Given the description of an element on the screen output the (x, y) to click on. 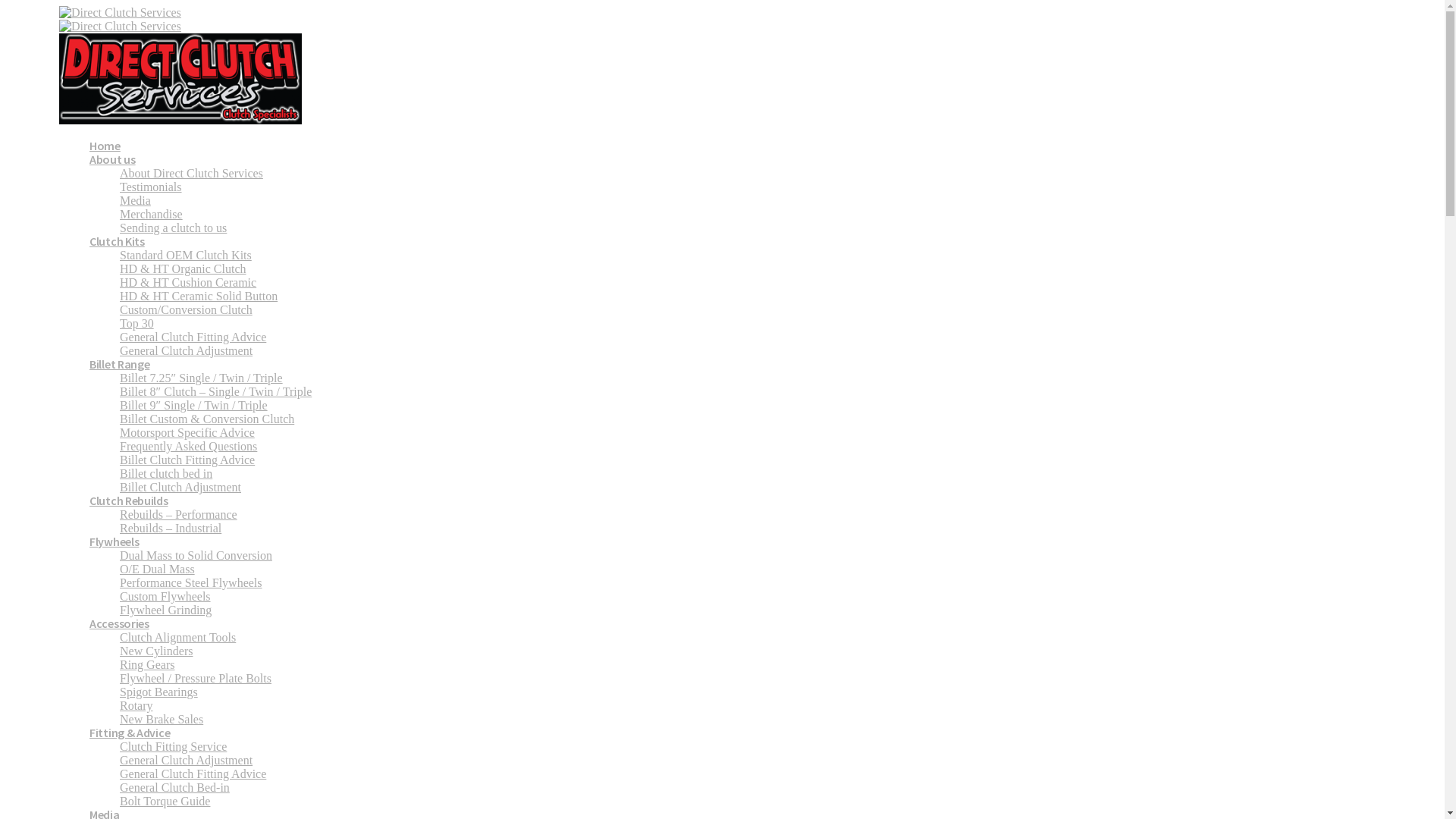
Billet Custom & Conversion Clutch Element type: text (206, 418)
Sending a clutch to us Element type: text (172, 227)
About Direct Clutch Services Element type: text (191, 172)
HD & HT Ceramic Solid Button Element type: text (198, 295)
HD & HT Organic Clutch Element type: text (182, 268)
About us Element type: text (112, 158)
Custom Flywheels Element type: text (164, 595)
General Clutch Adjustment Element type: text (185, 350)
Media Element type: text (134, 200)
Dual Mass to Solid Conversion Element type: text (195, 555)
Billet Clutch Fitting Advice Element type: text (186, 459)
Flywheel / Pressure Plate Bolts Element type: text (195, 677)
General Clutch Bed-in Element type: text (174, 787)
Ring Gears Element type: text (146, 664)
New Brake Sales Element type: text (161, 718)
Accessories Element type: text (119, 622)
Standard OEM Clutch Kits Element type: text (185, 254)
General Clutch Adjustment Element type: text (185, 759)
Clutch Kits Element type: text (116, 240)
General Clutch Fitting Advice Element type: text (192, 336)
Performance Steel Flywheels Element type: text (190, 582)
Billet Clutch Adjustment Element type: text (180, 486)
Merchandise Element type: text (150, 213)
Rotary Element type: text (136, 705)
Frequently Asked Questions Element type: text (188, 445)
Home Element type: text (104, 145)
Spigot Bearings Element type: text (158, 691)
Direct Clutch Services -  Element type: hover (180, 66)
O/E Dual Mass Element type: text (156, 568)
New Cylinders Element type: text (155, 650)
Motorsport Specific Advice Element type: text (186, 432)
Bolt Torque Guide Element type: text (164, 800)
Flywheels Element type: text (113, 541)
Clutch Alignment Tools Element type: text (177, 636)
Flywheel Grinding Element type: text (165, 609)
Testimonials Element type: text (150, 186)
Fitting & Advice Element type: text (129, 732)
Billet clutch bed in Element type: text (165, 473)
Clutch Rebuilds Element type: text (128, 500)
Top 30 Element type: text (136, 322)
Billet Range Element type: text (119, 363)
General Clutch Fitting Advice Element type: text (192, 773)
HD & HT Cushion Ceramic Element type: text (187, 282)
Custom/Conversion Clutch Element type: text (185, 309)
Clutch Fitting Service Element type: text (172, 746)
